Given the description of an element on the screen output the (x, y) to click on. 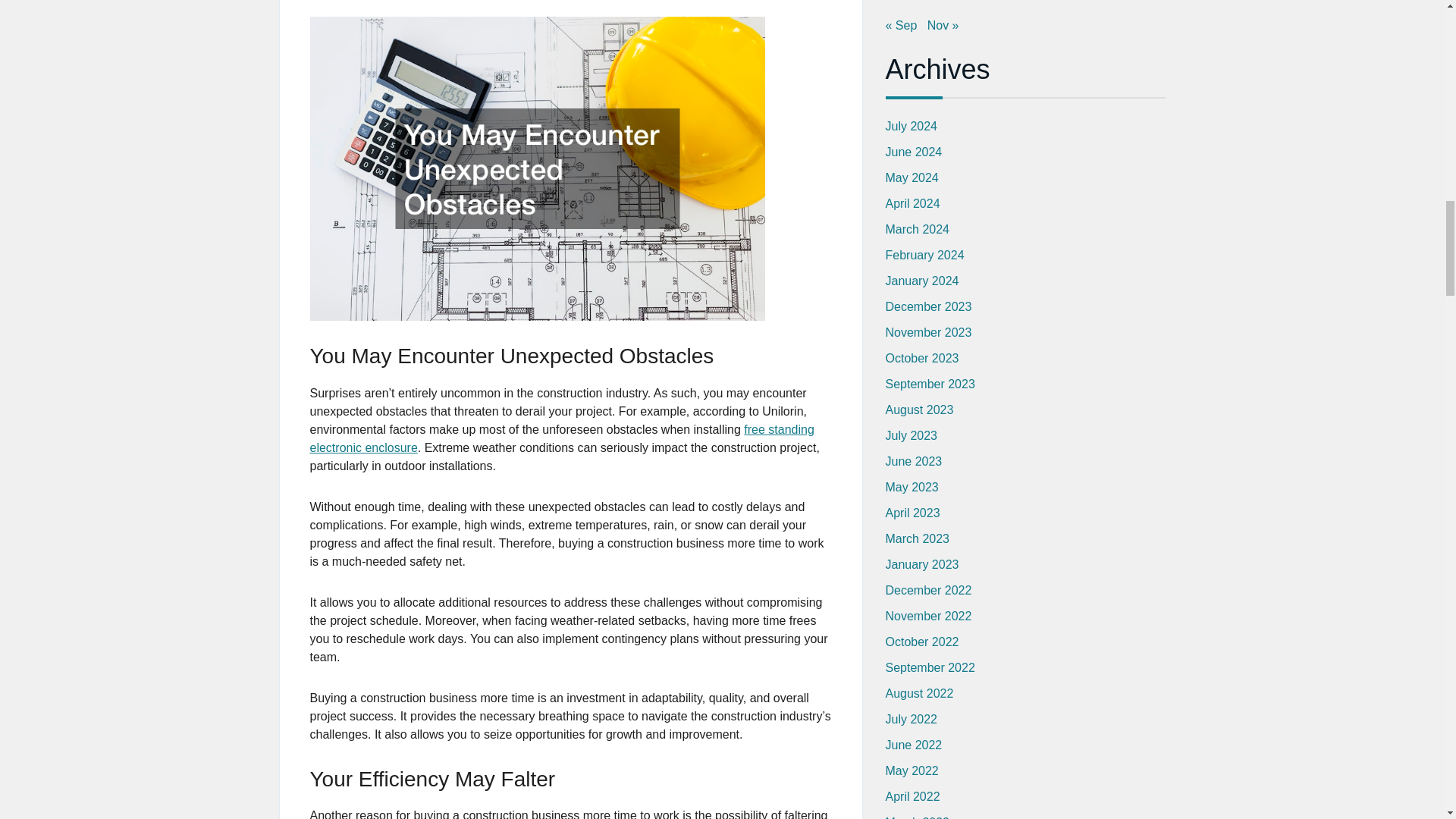
free standing electronic enclosure (560, 438)
